Given the description of an element on the screen output the (x, y) to click on. 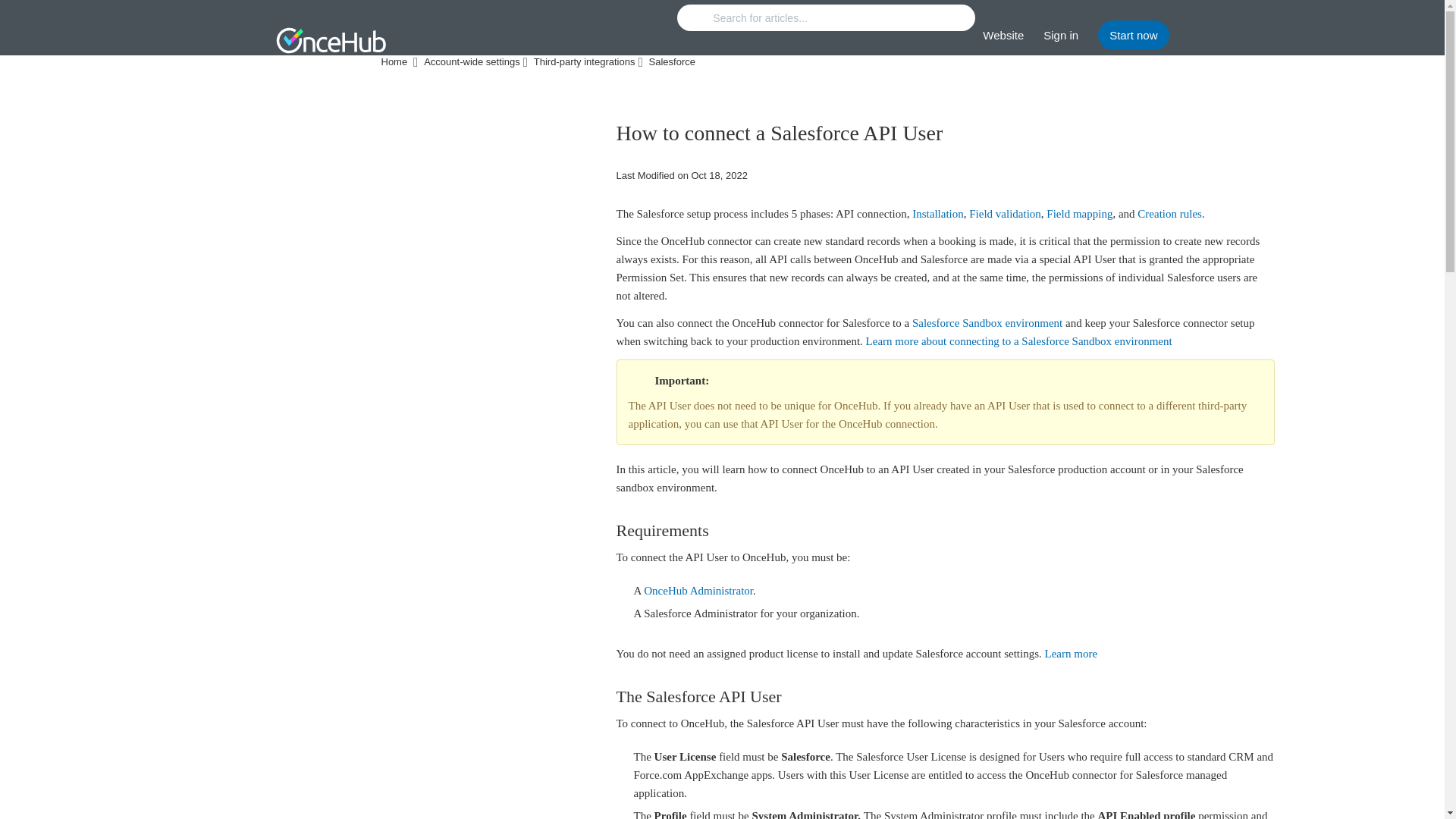
Sign in (1060, 35)
Start now (1133, 34)
Connecting ScheduleOnce to a Salesforce Sandbox environment (1019, 340)
Search (826, 17)
Website (1002, 35)
Download PDF (963, 137)
Download PDF (963, 136)
Salesforce record creation, update, and assignment rules (1169, 214)
Third-party integrations (586, 61)
